Given the description of an element on the screen output the (x, y) to click on. 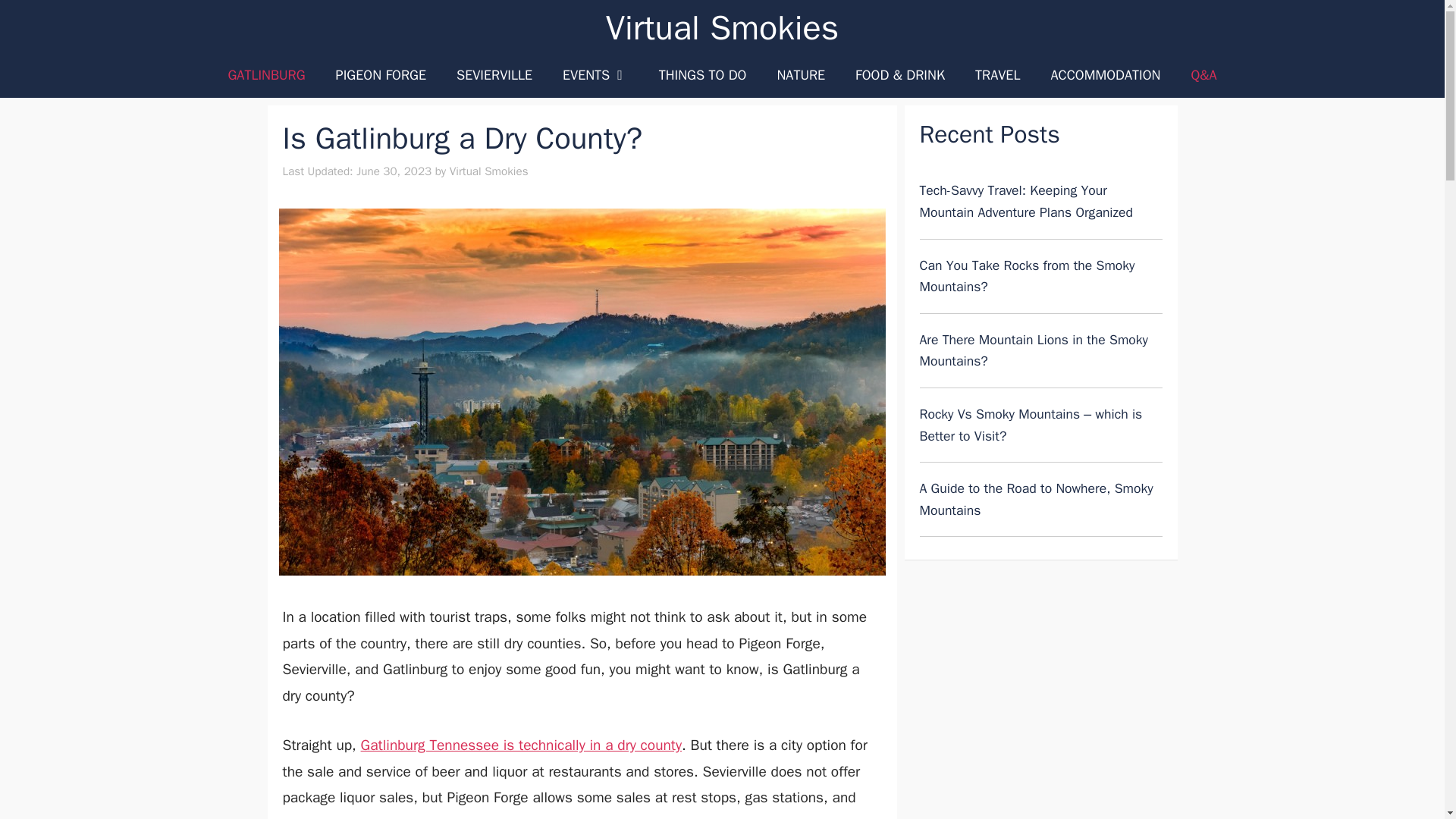
TRAVEL (997, 74)
ACCOMMODATION (1104, 74)
Virtual Smokies (721, 27)
GATLINBURG (266, 74)
NATURE (800, 74)
View all posts by Virtual Smokies (488, 171)
Can You Take Rocks from the Smoky Mountains? (1026, 276)
PIGEON FORGE (380, 74)
SEVIERVILLE (494, 74)
